Given the description of an element on the screen output the (x, y) to click on. 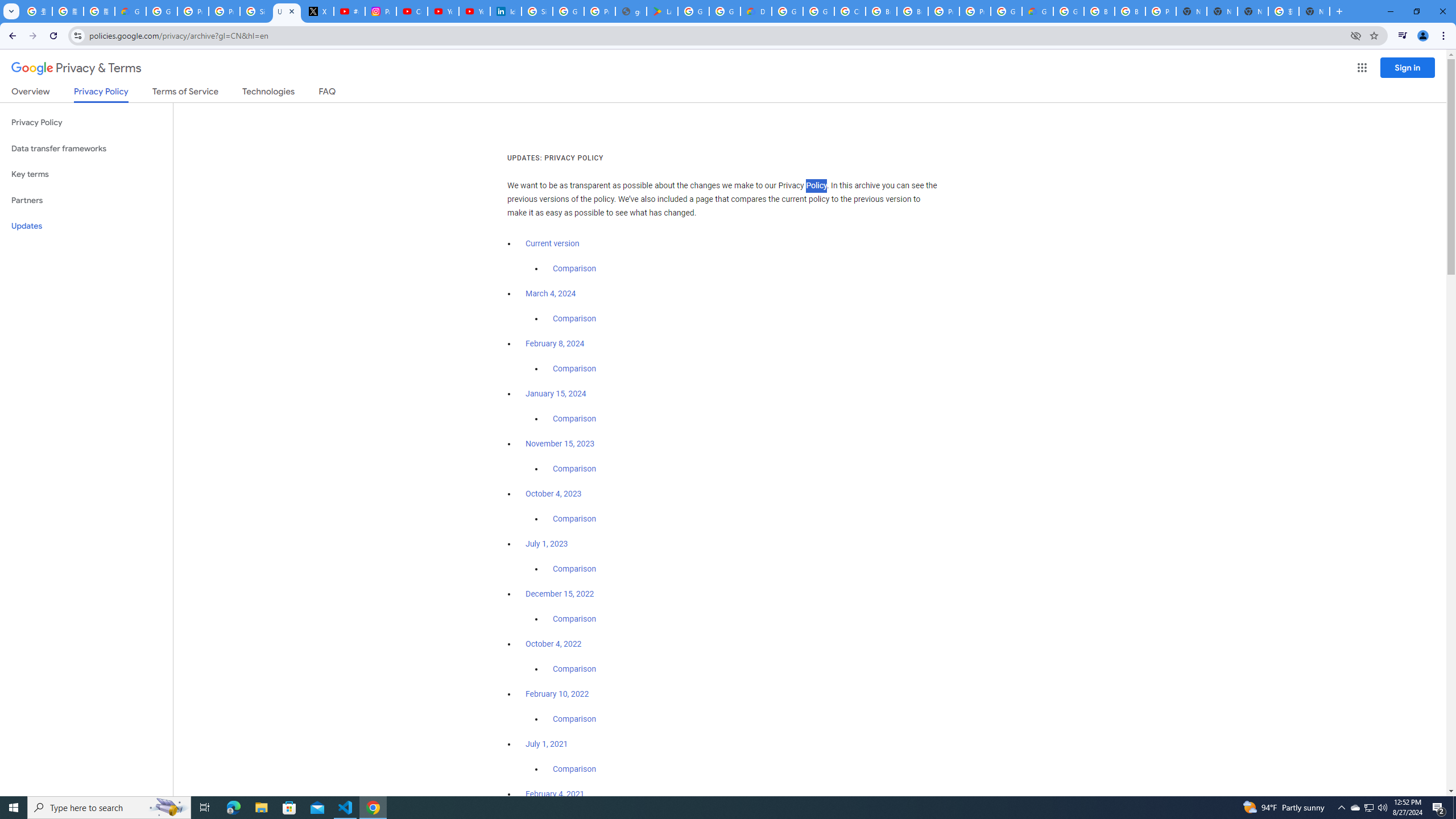
X (318, 11)
Google Cloud Privacy Notice (130, 11)
Browse Chrome as a guest - Computer - Google Chrome Help (1098, 11)
Browse Chrome as a guest - Computer - Google Chrome Help (881, 11)
March 4, 2024 (550, 293)
FAQ (327, 93)
Key terms (86, 174)
December 15, 2022 (559, 593)
Technologies (268, 93)
